Given the description of an element on the screen output the (x, y) to click on. 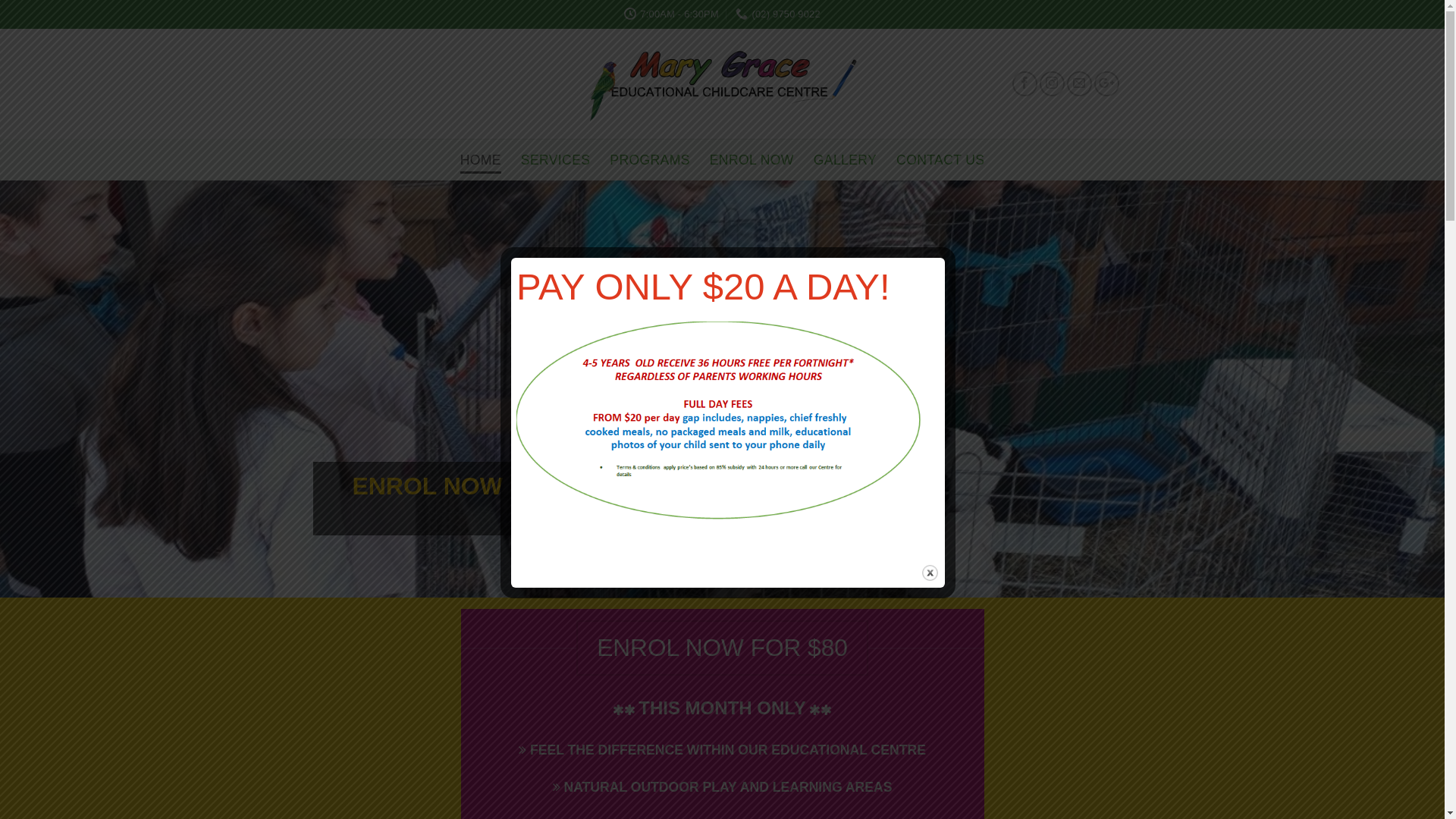
GALLERY Element type: text (844, 158)
(02) 9750 9022 Element type: text (777, 14)
SERVICES Element type: text (554, 158)
PROGRAMS Element type: text (649, 158)
Skip to content Element type: text (0, 0)
Mary Grace Childcare - A NURTURING AND DEVELOPMENTAL WORLD Element type: hover (721, 83)
CONTACT US Element type: text (940, 158)
HOME Element type: text (480, 158)
7:00AM - 6:30PM Element type: text (671, 14)
ENROL NOW Element type: text (751, 158)
